Given the description of an element on the screen output the (x, y) to click on. 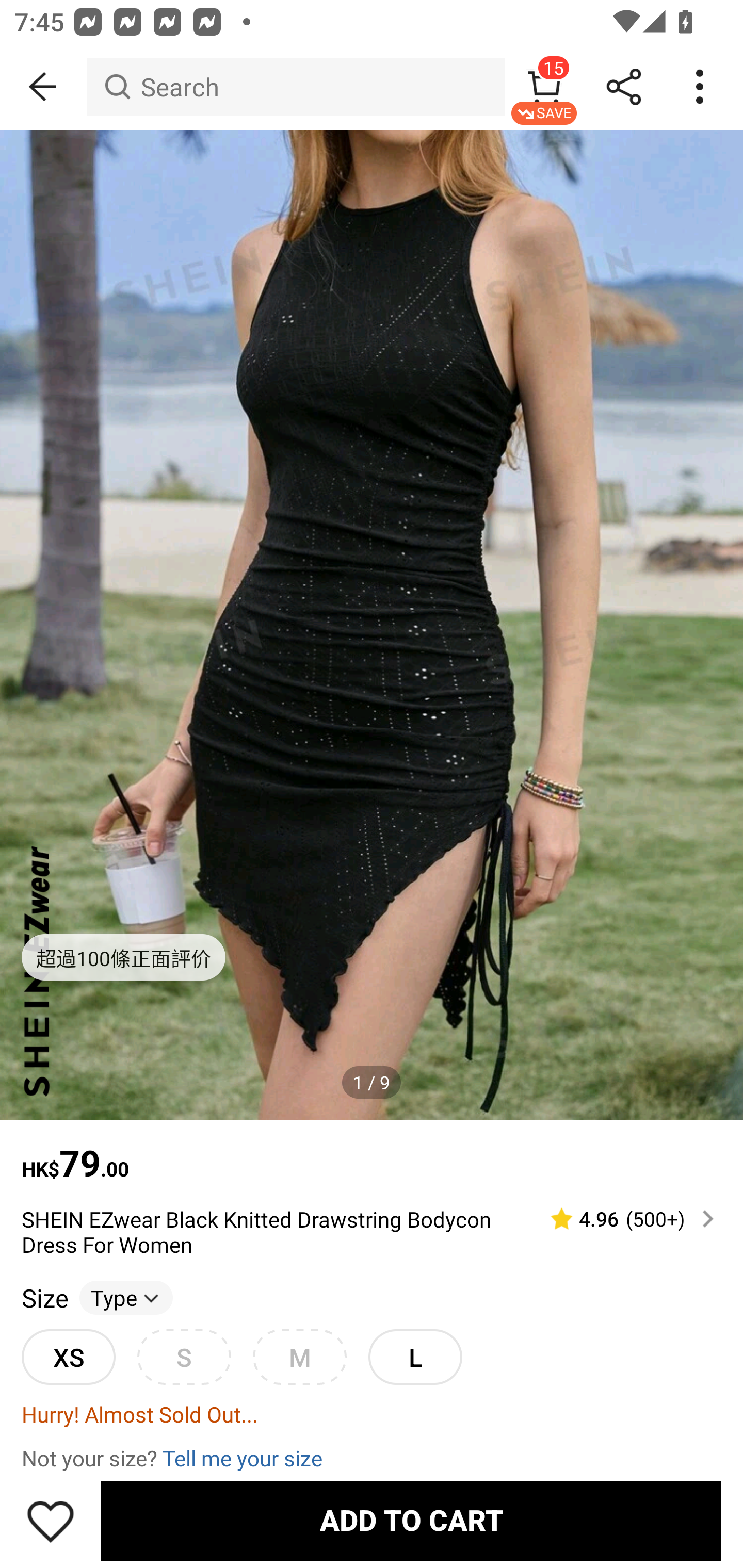
BACK (43, 86)
15 SAVE (543, 87)
Search (295, 87)
1 / 9 (371, 1082)
HK$79.00 (371, 1152)
4.96 (500‎+) (623, 1219)
Size (44, 1297)
Type (126, 1297)
XS XSunselected option (68, 1356)
S (184, 1356)
M (299, 1356)
L Lunselected option (415, 1356)
Hurry! Almost Sold Out... (371, 1413)
Not your size? Tell me your size (371, 1457)
ADD TO CART (411, 1520)
Save (50, 1520)
